Given the description of an element on the screen output the (x, y) to click on. 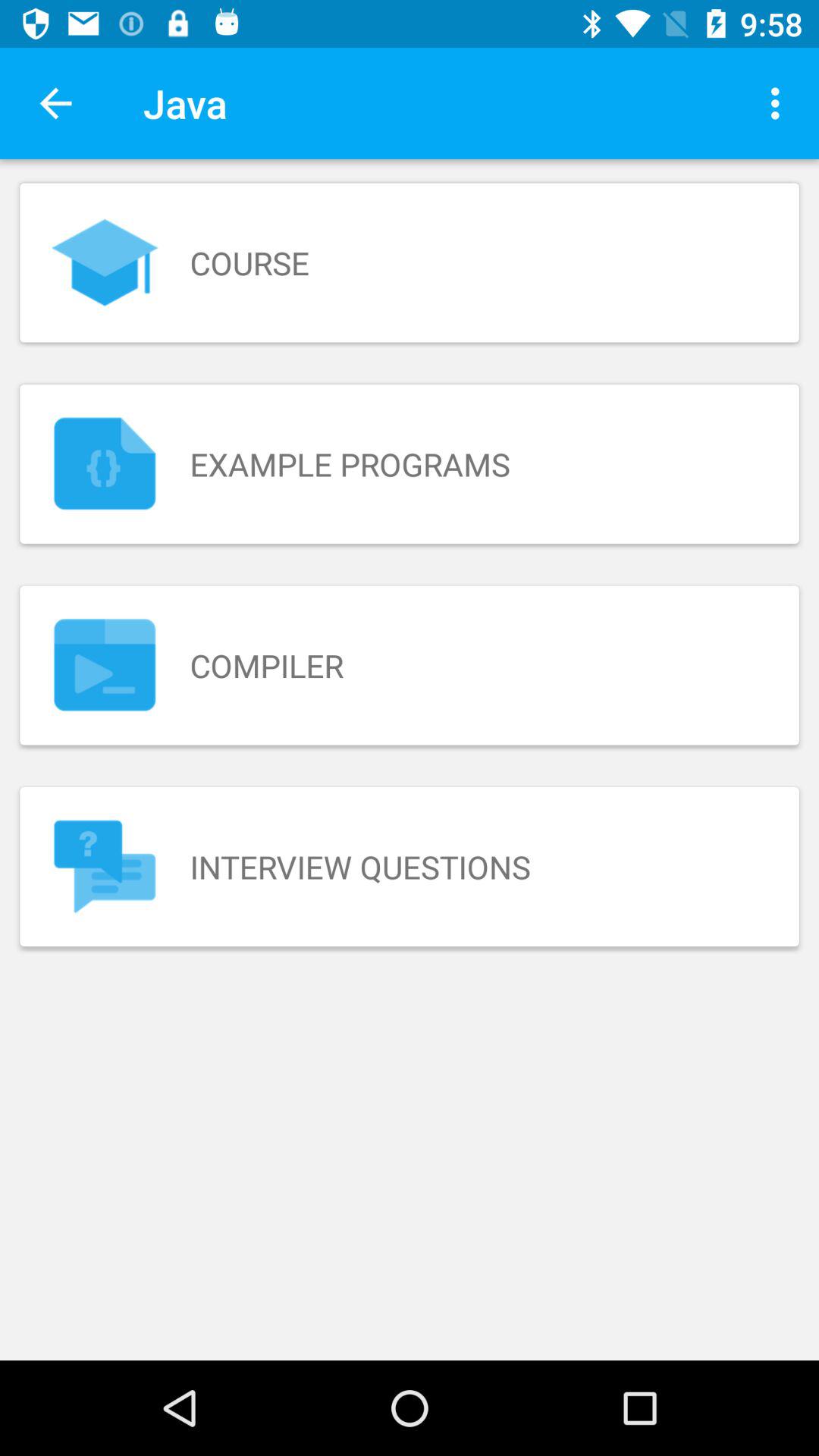
open the item next to java icon (55, 103)
